Given the description of an element on the screen output the (x, y) to click on. 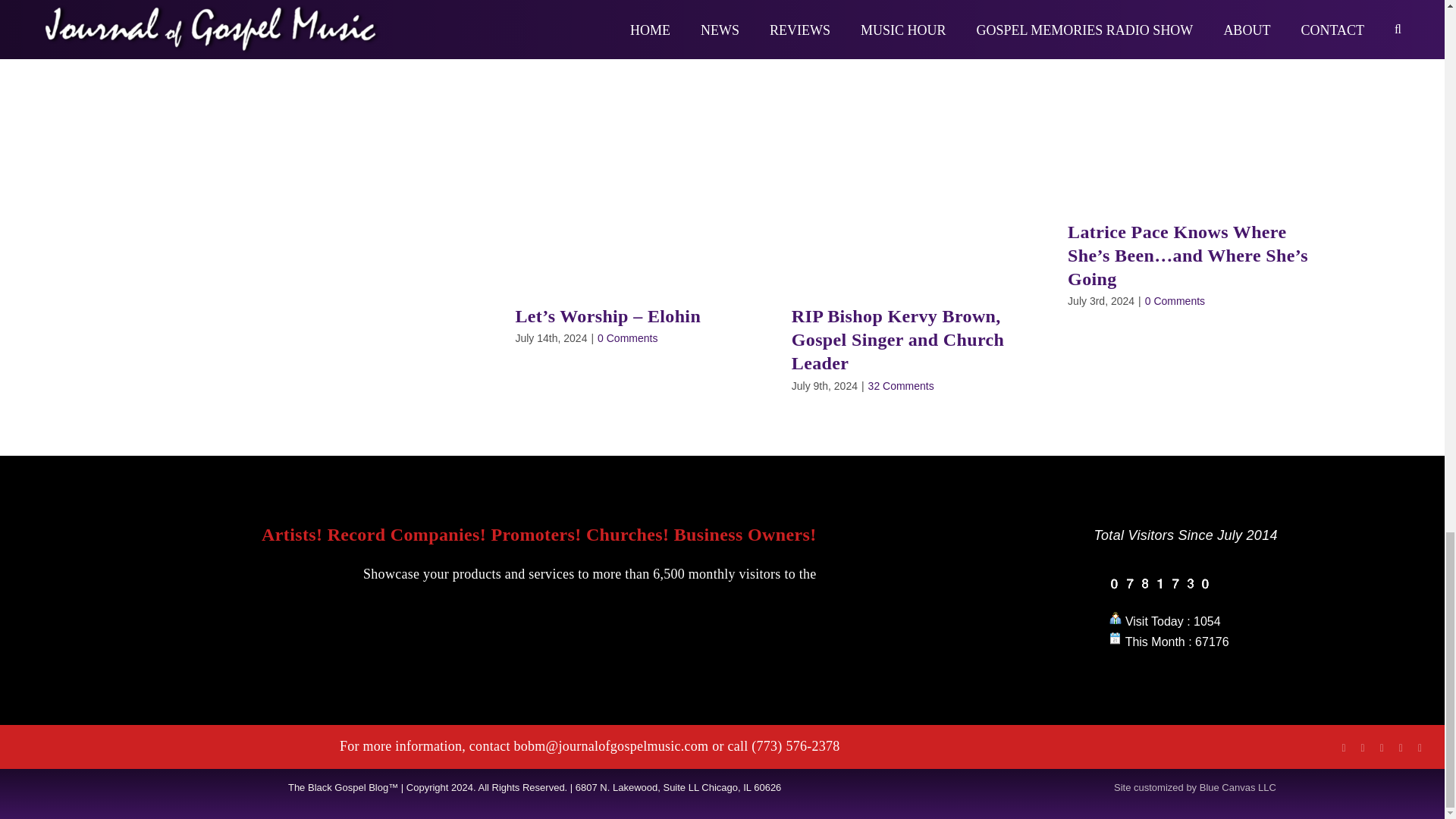
0 Comments (627, 337)
0 Comments (1174, 300)
RIP Bishop Kervy Brown, Gospel Singer and Church Leader (898, 339)
RIP Bishop Kervy Brown, Gospel Singer and Church Leader (898, 339)
32 Comments (900, 386)
